Given the description of an element on the screen output the (x, y) to click on. 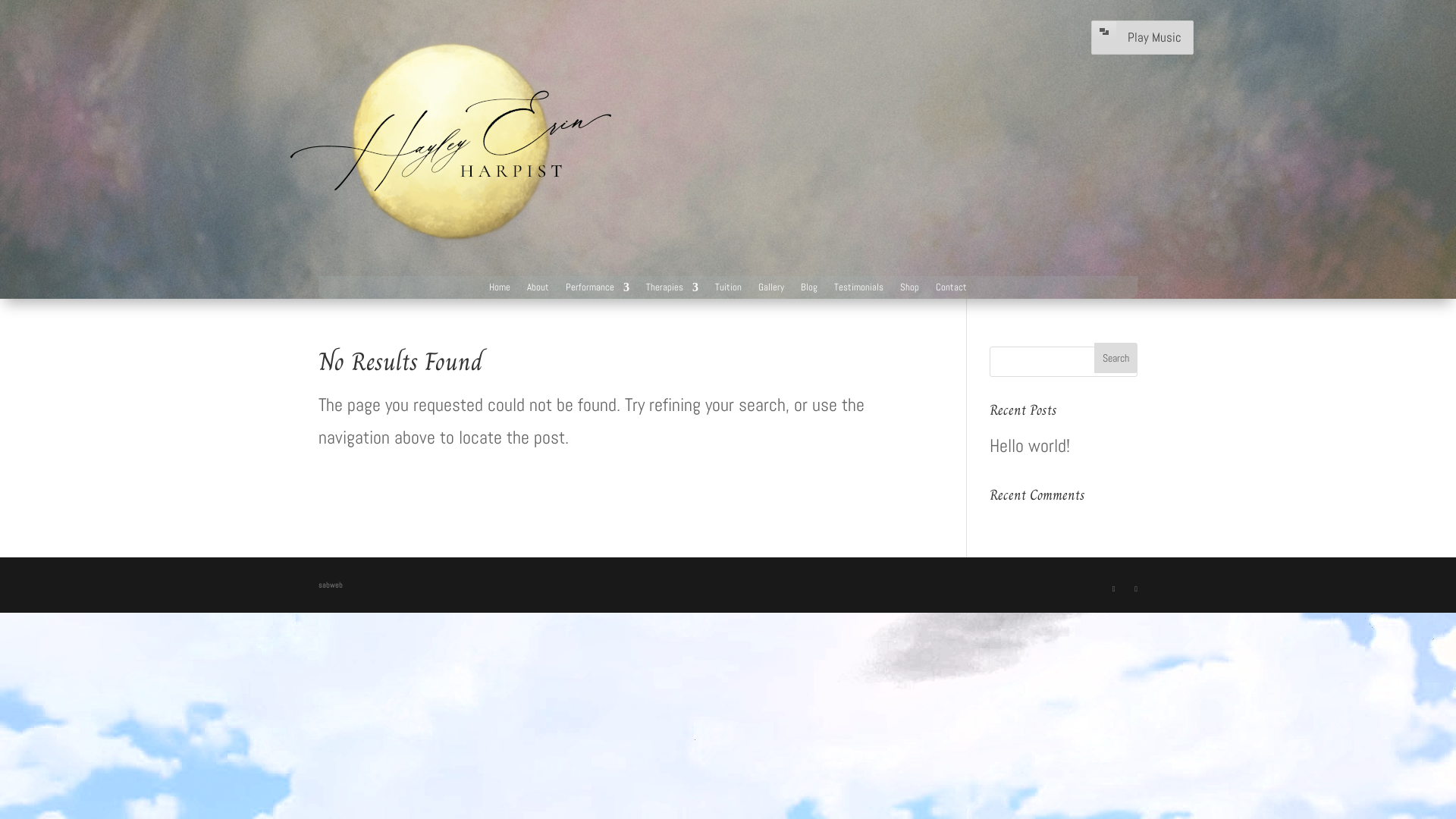
Blog Element type: text (808, 290)
Home Element type: text (499, 290)
Performance Element type: text (597, 290)
Hello world! Element type: text (1029, 445)
Contact Element type: text (950, 290)
Testimonials Element type: text (858, 290)
Search Element type: text (1115, 357)
Tuition Element type: text (728, 290)
Shop Element type: text (909, 290)
logo Element type: hover (450, 141)
Therapies Element type: text (672, 290)
Gallery Element type: text (771, 290)
About Element type: text (538, 290)
sabweb Element type: text (330, 584)
